Given the description of an element on the screen output the (x, y) to click on. 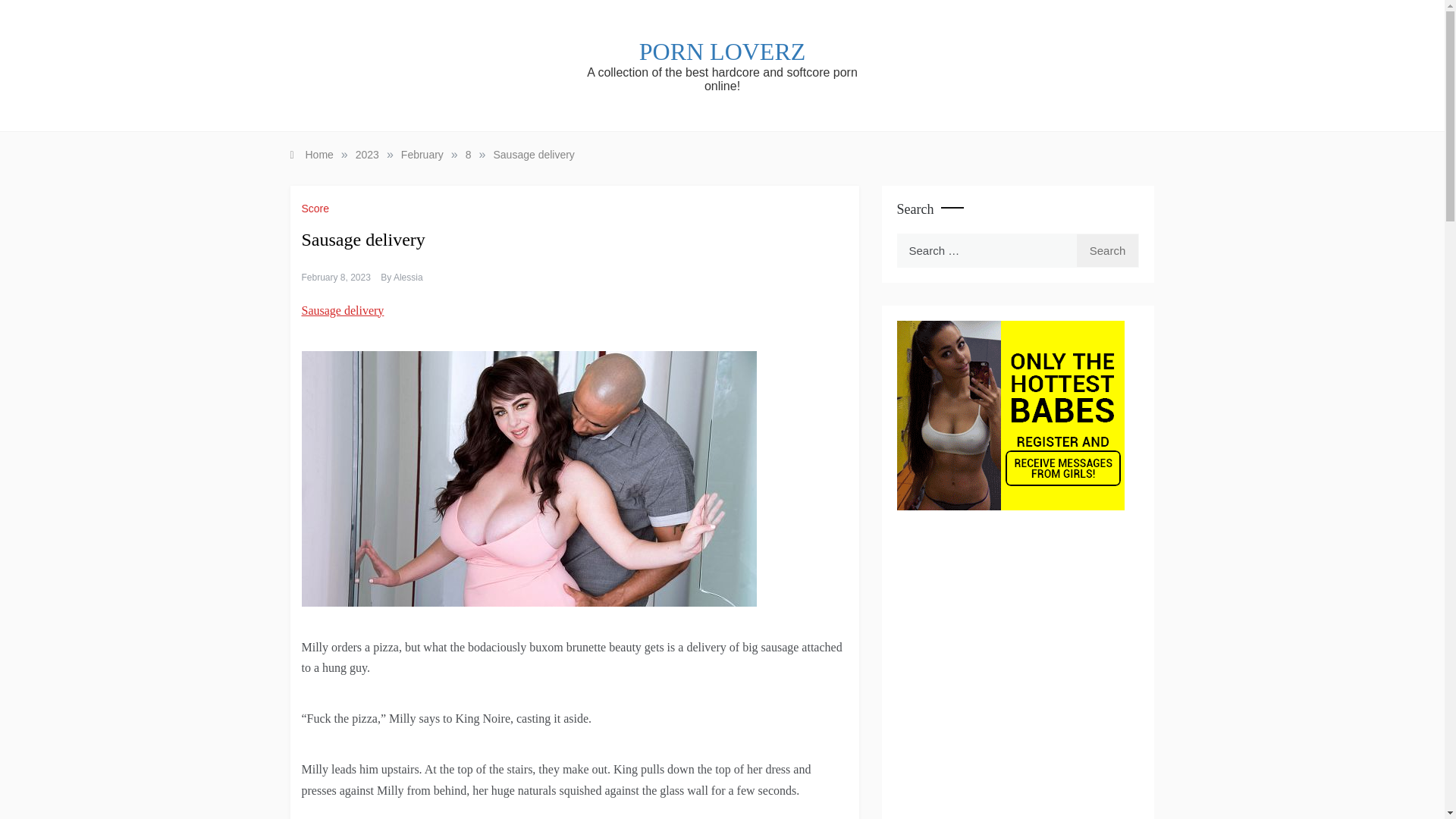
February 8, 2023 (336, 276)
Search (1107, 250)
Alessia (408, 276)
Sausage delivery (342, 309)
Search (1107, 250)
Score (317, 208)
Search (1107, 250)
Sausage delivery (529, 478)
Home (311, 154)
PORN LOVERZ (722, 51)
2023 (366, 154)
Sausage delivery (533, 154)
February (422, 154)
